Given the description of an element on the screen output the (x, y) to click on. 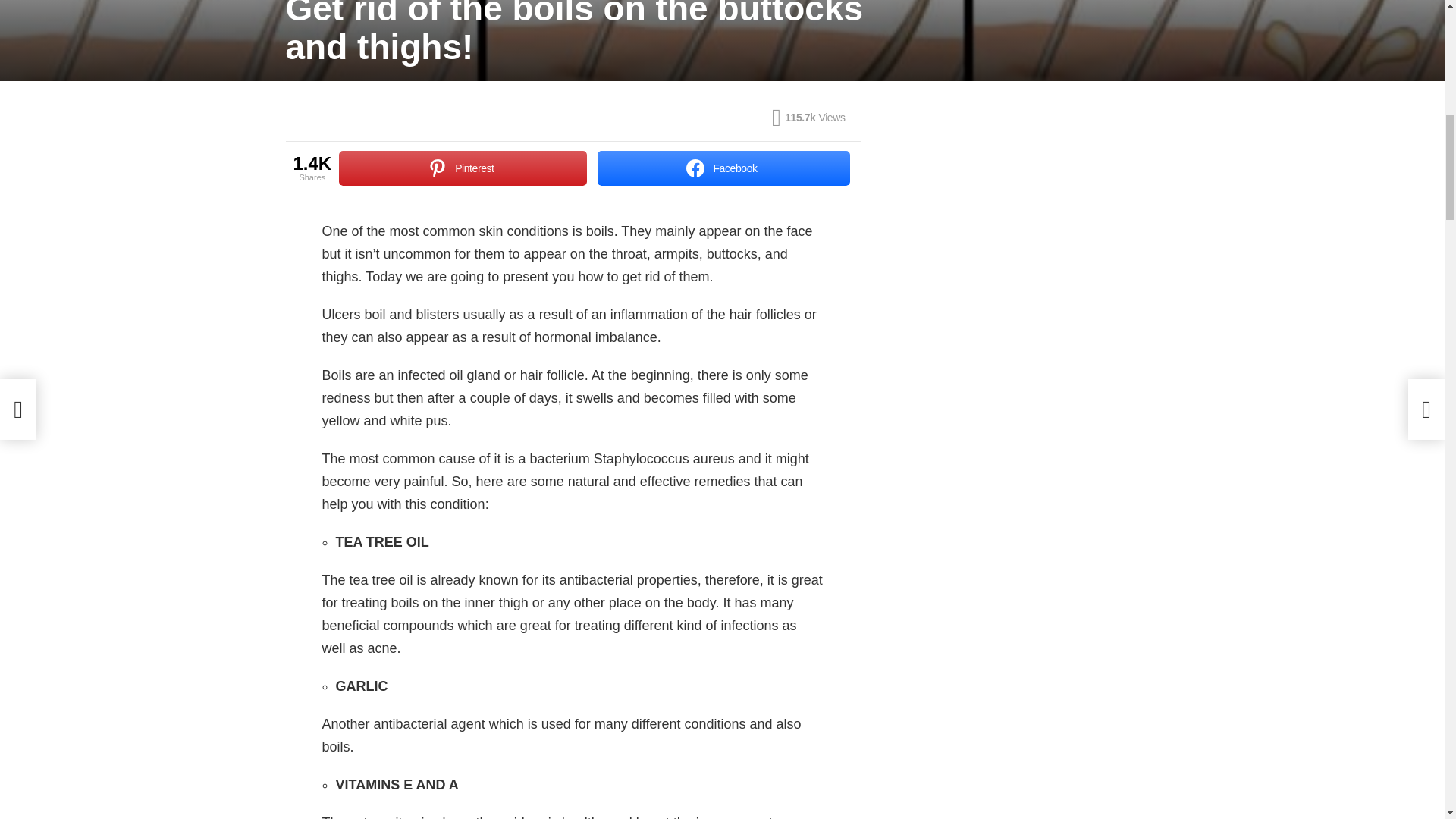
Facebook (723, 167)
Share on Pinterest (462, 167)
Pinterest (462, 167)
Share on Facebook (723, 167)
